Given the description of an element on the screen output the (x, y) to click on. 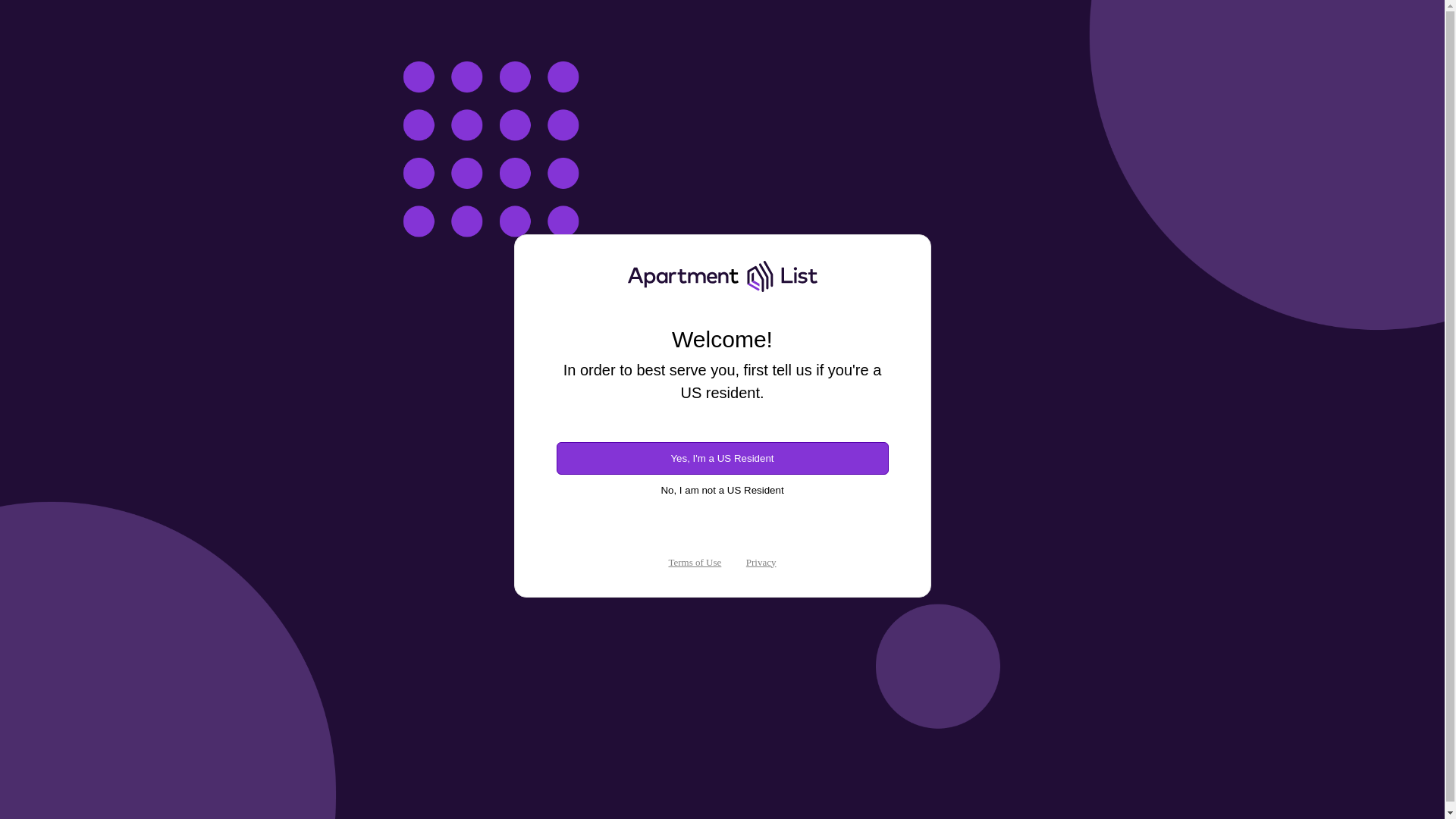
Privacy (760, 562)
No, I am not a US Resident (722, 490)
Terms of Use (694, 562)
Yes, I'm a US Resident (722, 457)
